Given the description of an element on the screen output the (x, y) to click on. 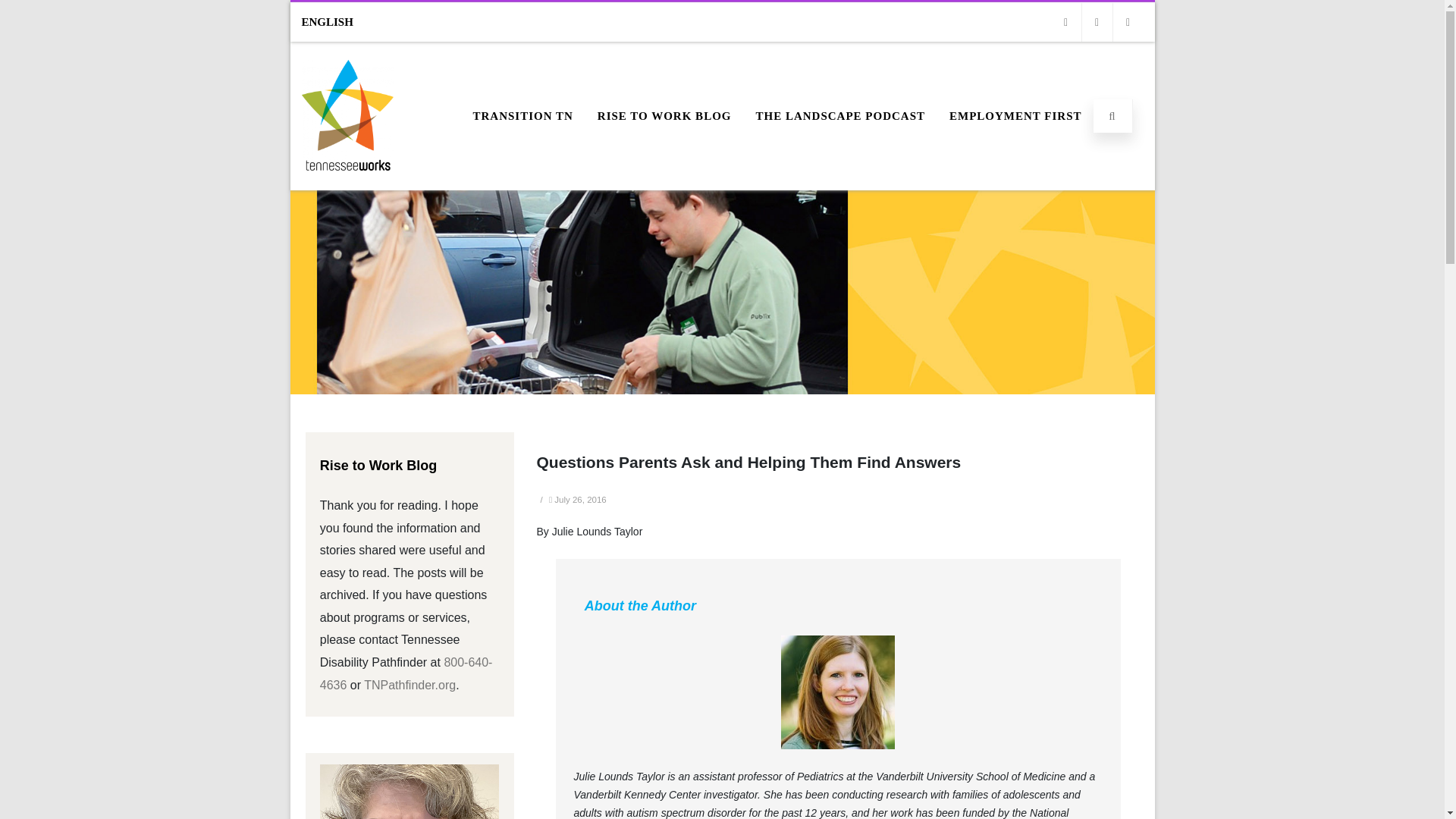
800-640-4636 (406, 673)
ENGLISH (333, 21)
TRANSITION TN (522, 115)
TNPathfinder.org (409, 684)
EMPLOYMENT FIRST (1015, 115)
THE LANDSCAPE PODCAST (840, 115)
English (333, 21)
Tennessee Works (347, 184)
RISE TO WORK BLOG (664, 115)
